Given the description of an element on the screen output the (x, y) to click on. 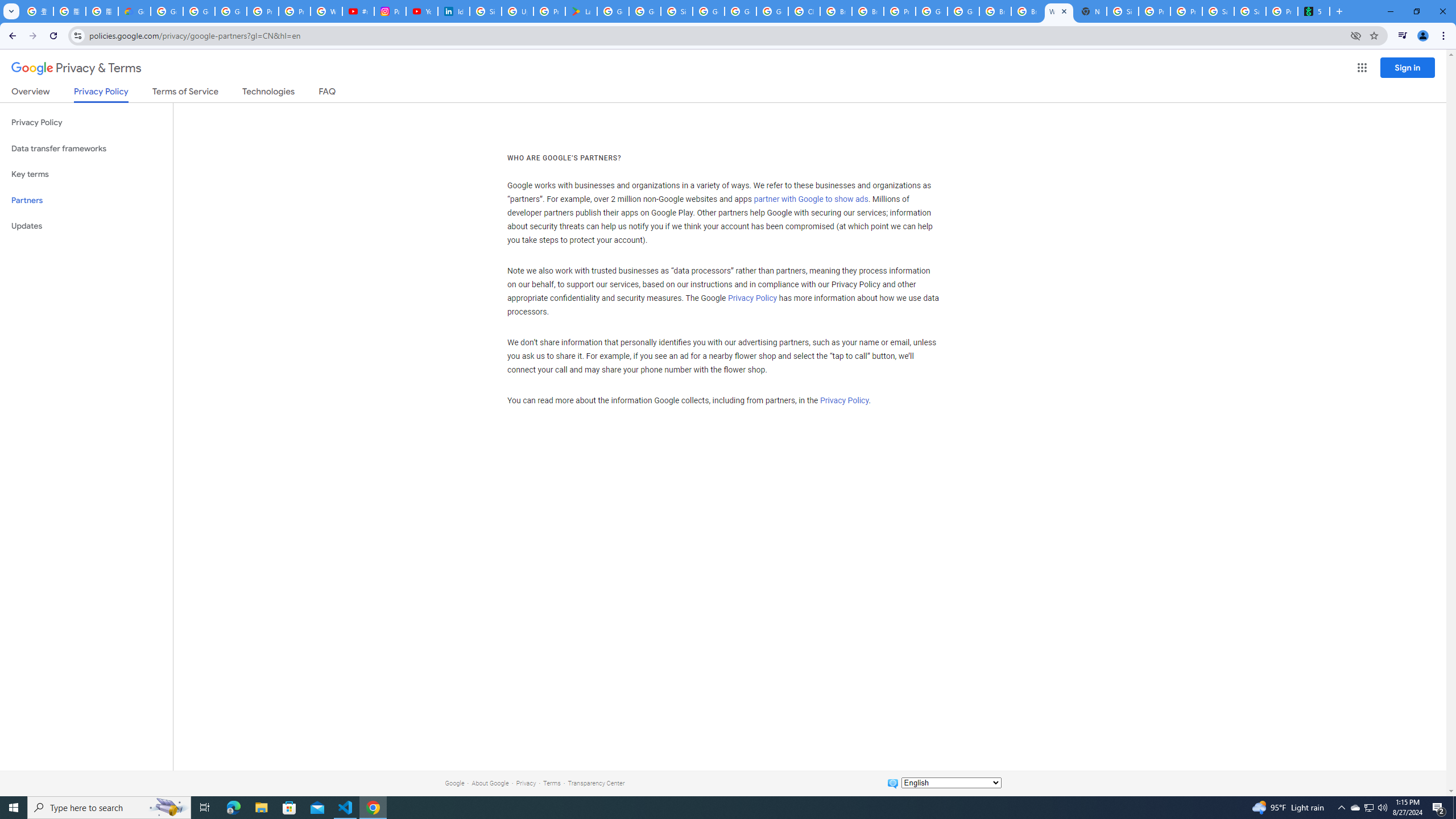
Browse Chrome as a guest - Computer - Google Chrome Help (1027, 11)
Last Shelter: Survival - Apps on Google Play (581, 11)
New Tab (1091, 11)
Sign in - Google Accounts (1123, 11)
Google Cloud Platform (740, 11)
Privacy Policy (844, 400)
Privacy & Terms (76, 68)
Overview (30, 93)
Google Cloud Platform (931, 11)
Browse Chrome as a guest - Computer - Google Chrome Help (868, 11)
Technologies (268, 93)
